Given the description of an element on the screen output the (x, y) to click on. 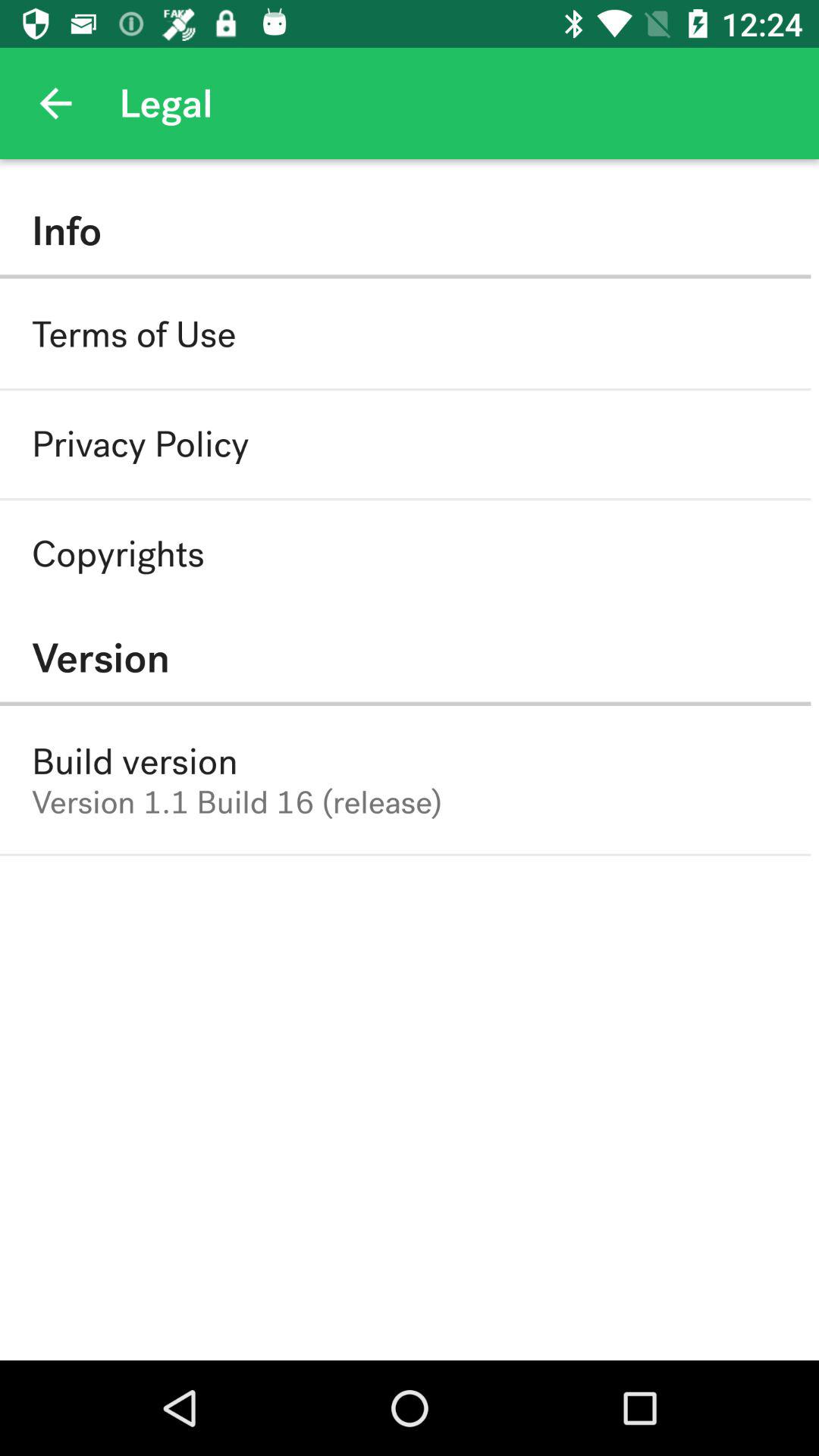
scroll until version 1 1 icon (236, 802)
